Given the description of an element on the screen output the (x, y) to click on. 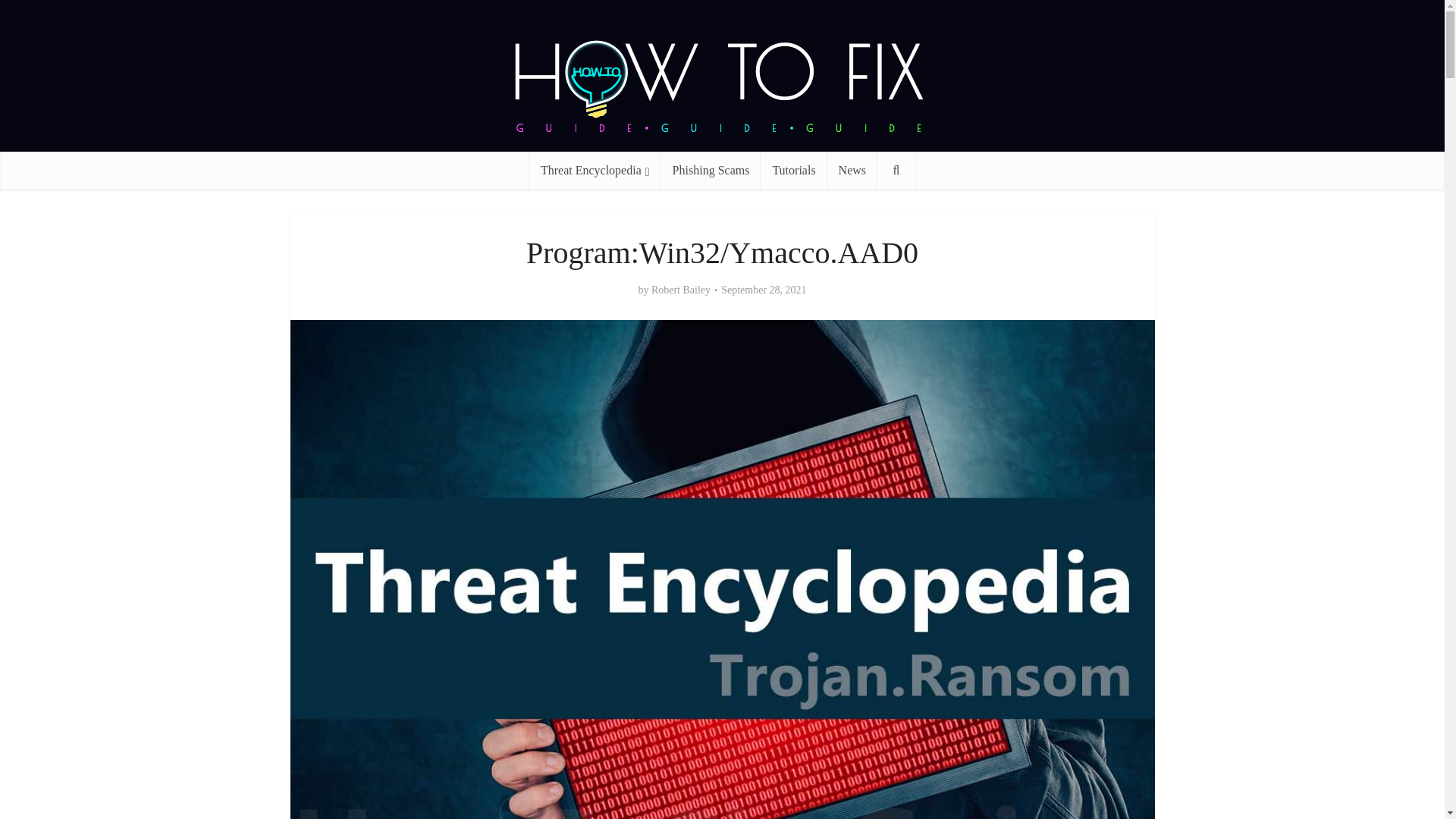
Tutorials (793, 170)
Phishing Scams (711, 170)
Threat Encyclopedia (595, 170)
News (852, 170)
Robert Bailey (680, 290)
